Given the description of an element on the screen output the (x, y) to click on. 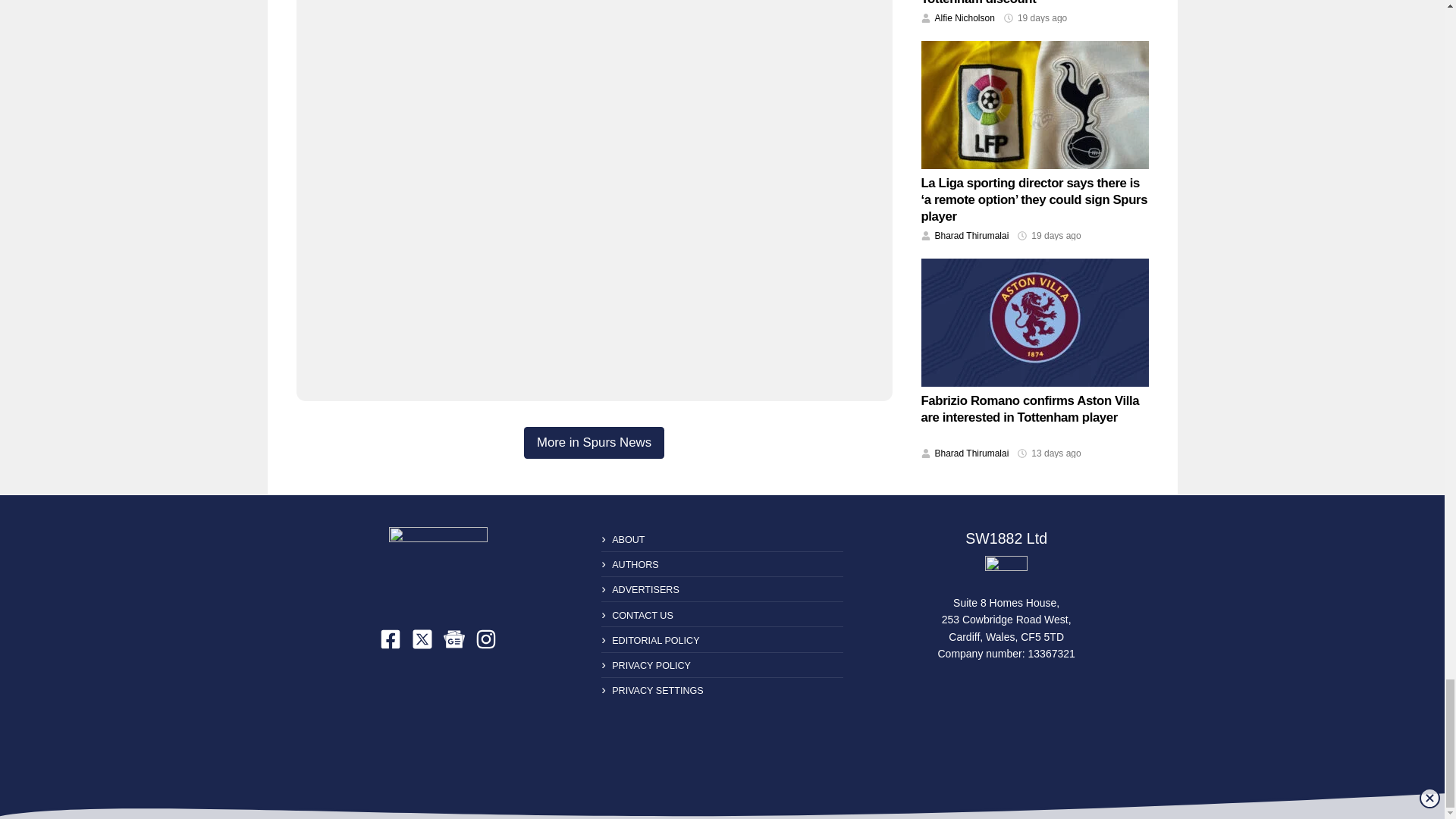
More in Spurs News (593, 442)
The Spurs Web - Tottenham Hotspur Football News (438, 565)
The Spurs Web - Tottenham Hotspur Football News on Facebook (390, 638)
The Spurs Web - Tottenham Hotspur Football News on Instagram (486, 638)
The Spurs Web - Tottenham Hotspur Football News on X (422, 638)
Spurs Web (1005, 572)
